Given the description of an element on the screen output the (x, y) to click on. 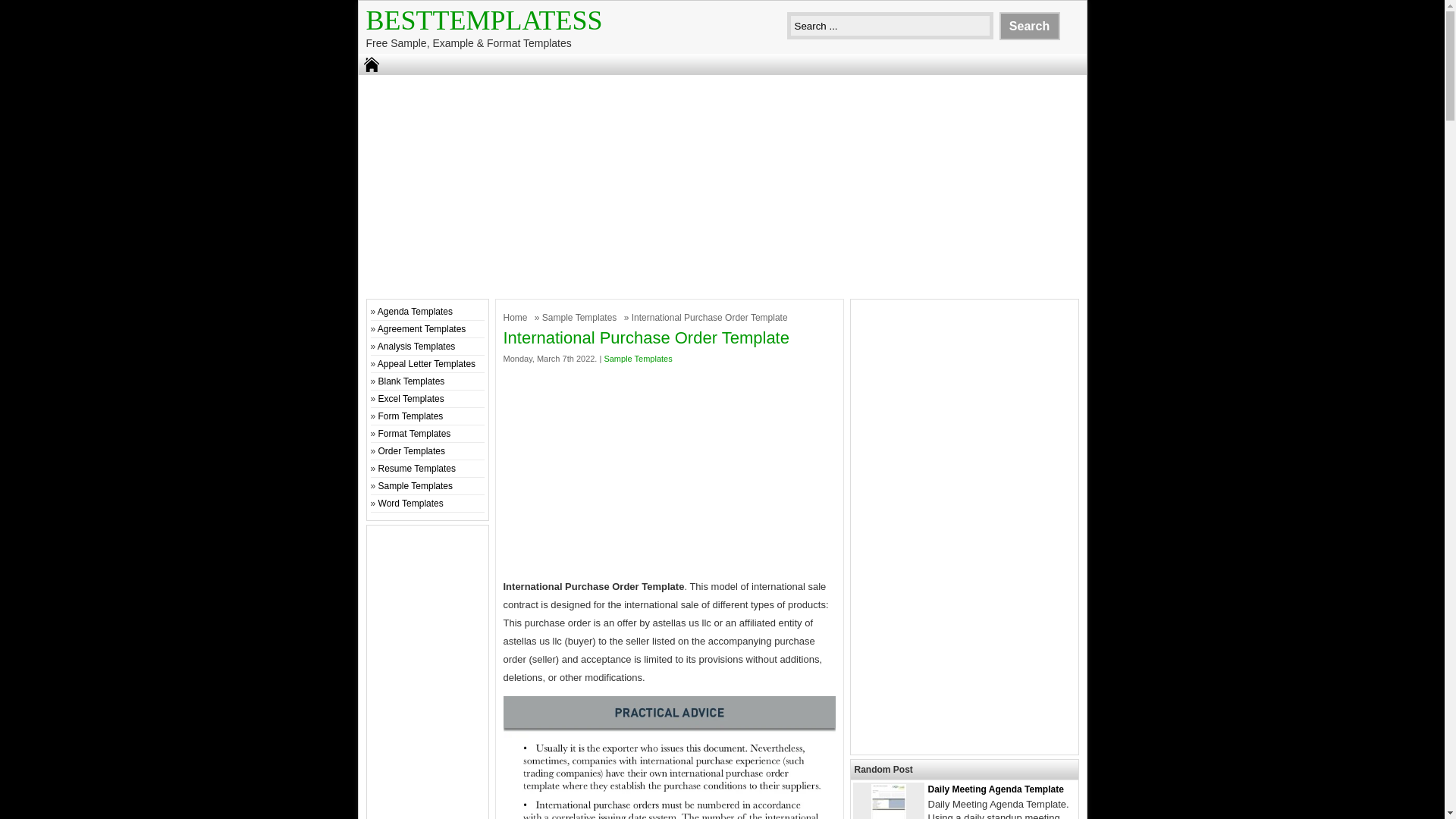
Search ...  (889, 25)
Blank Templates (411, 380)
Format Templates (414, 433)
Agreement Templates (421, 328)
Form Templates (411, 416)
Order Templates (411, 450)
Agenda Templates (414, 311)
Search (1028, 26)
Sample Templates (637, 358)
Sample Templates (415, 485)
